Given the description of an element on the screen output the (x, y) to click on. 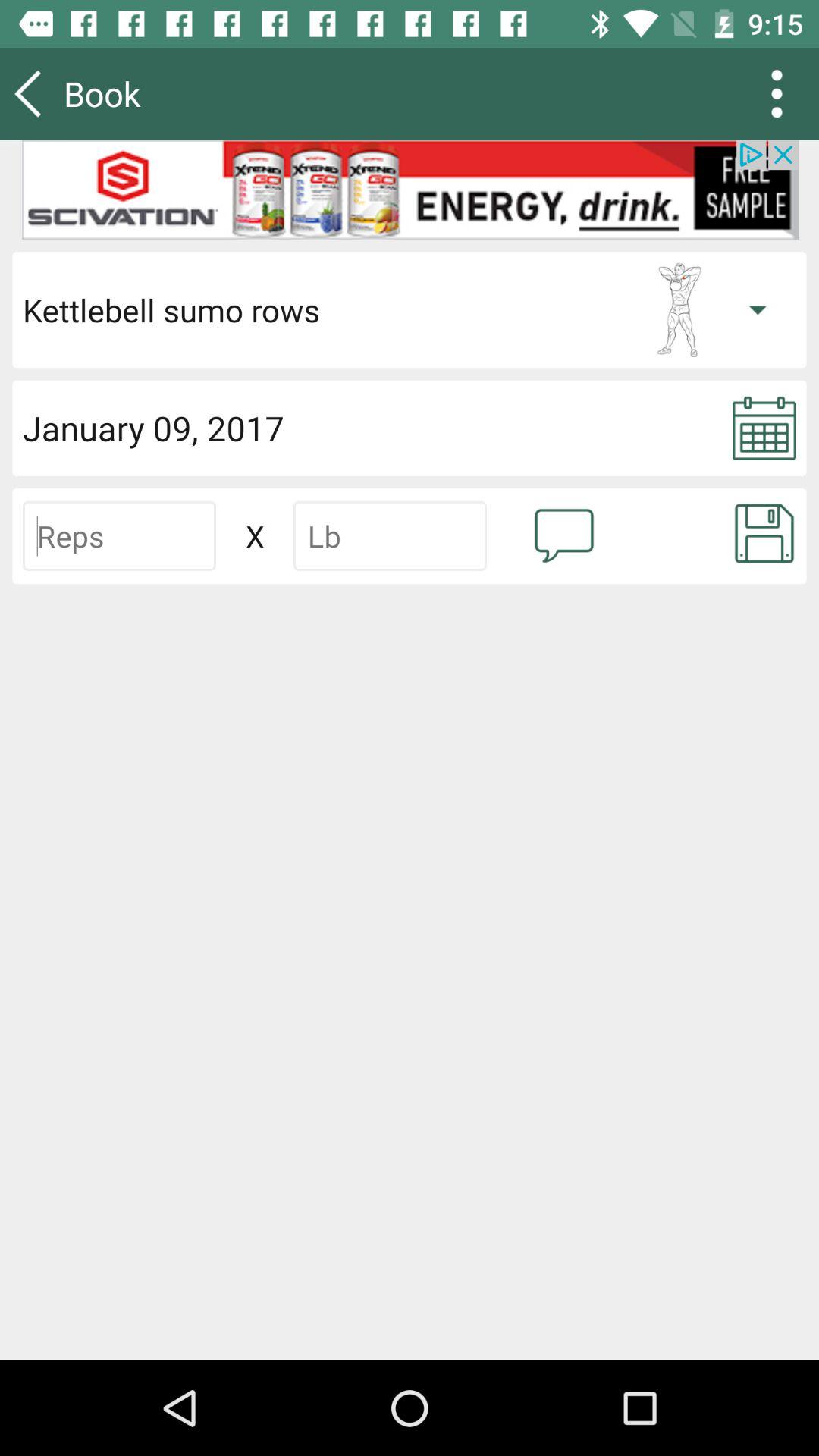
advertisement (409, 189)
